Given the description of an element on the screen output the (x, y) to click on. 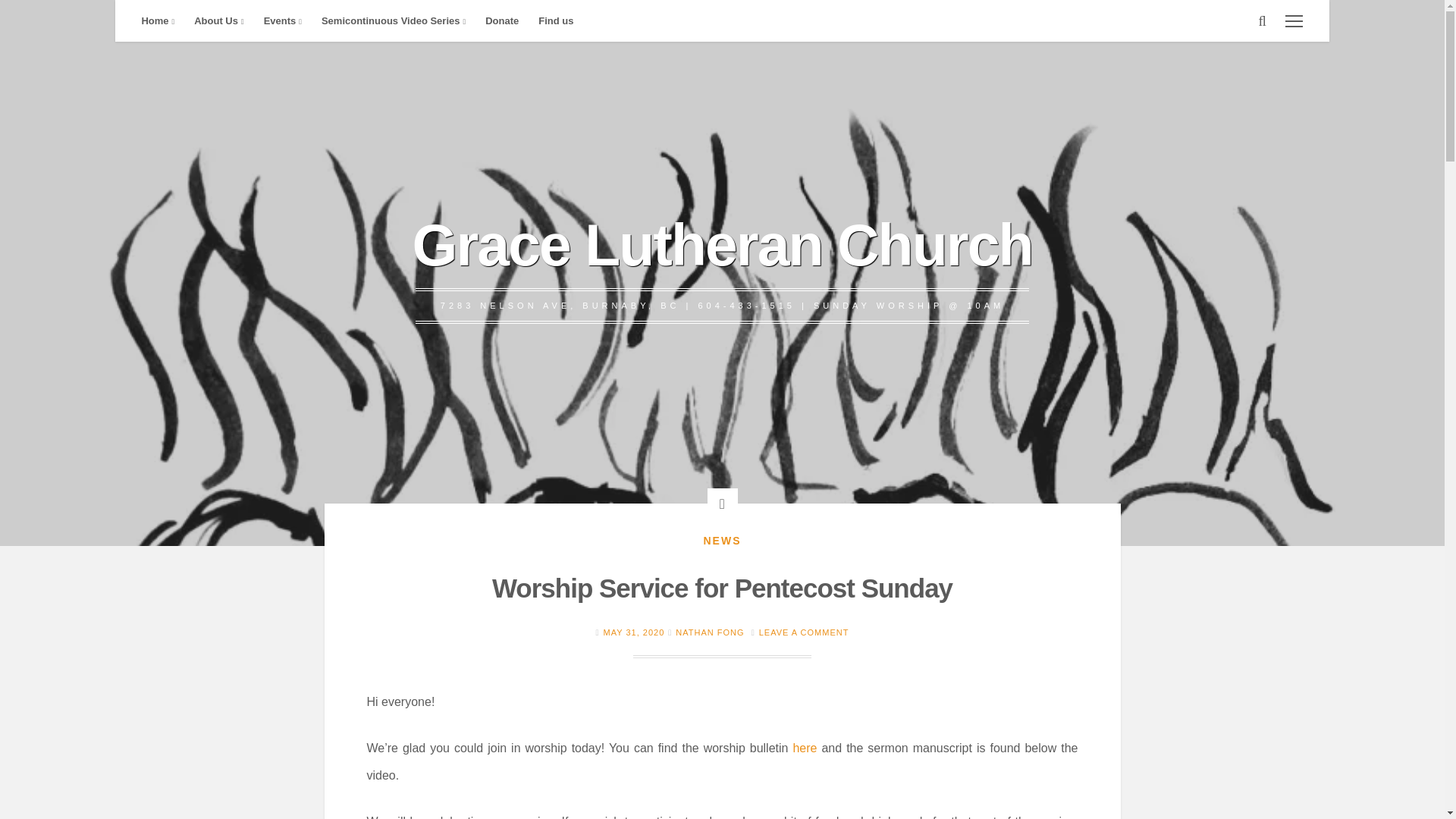
Home (157, 20)
LEAVE A COMMENT (803, 632)
About Us (218, 20)
Events (282, 20)
Semicontinuous Video Series (393, 20)
NEWS (722, 540)
here (804, 748)
Find us (555, 20)
Donate (502, 20)
Grace Lutheran Church (722, 244)
NATHAN FONG (709, 632)
